Given the description of an element on the screen output the (x, y) to click on. 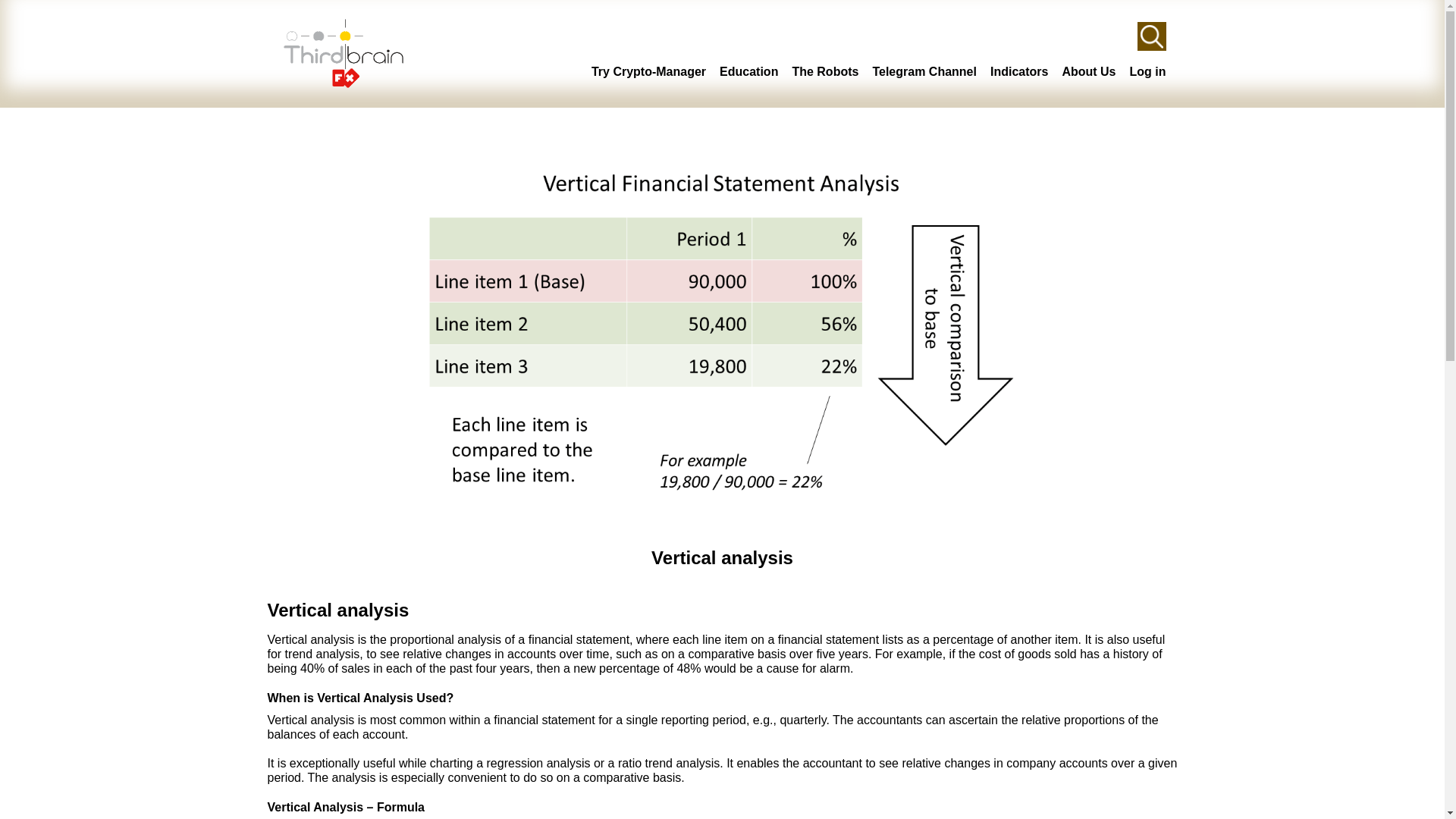
Indicators (1019, 71)
About Us (1088, 71)
The Robots (825, 71)
Education (748, 71)
Telegram Channel (924, 71)
Log in (1147, 71)
Try Crypto-Manager (648, 71)
